Given the description of an element on the screen output the (x, y) to click on. 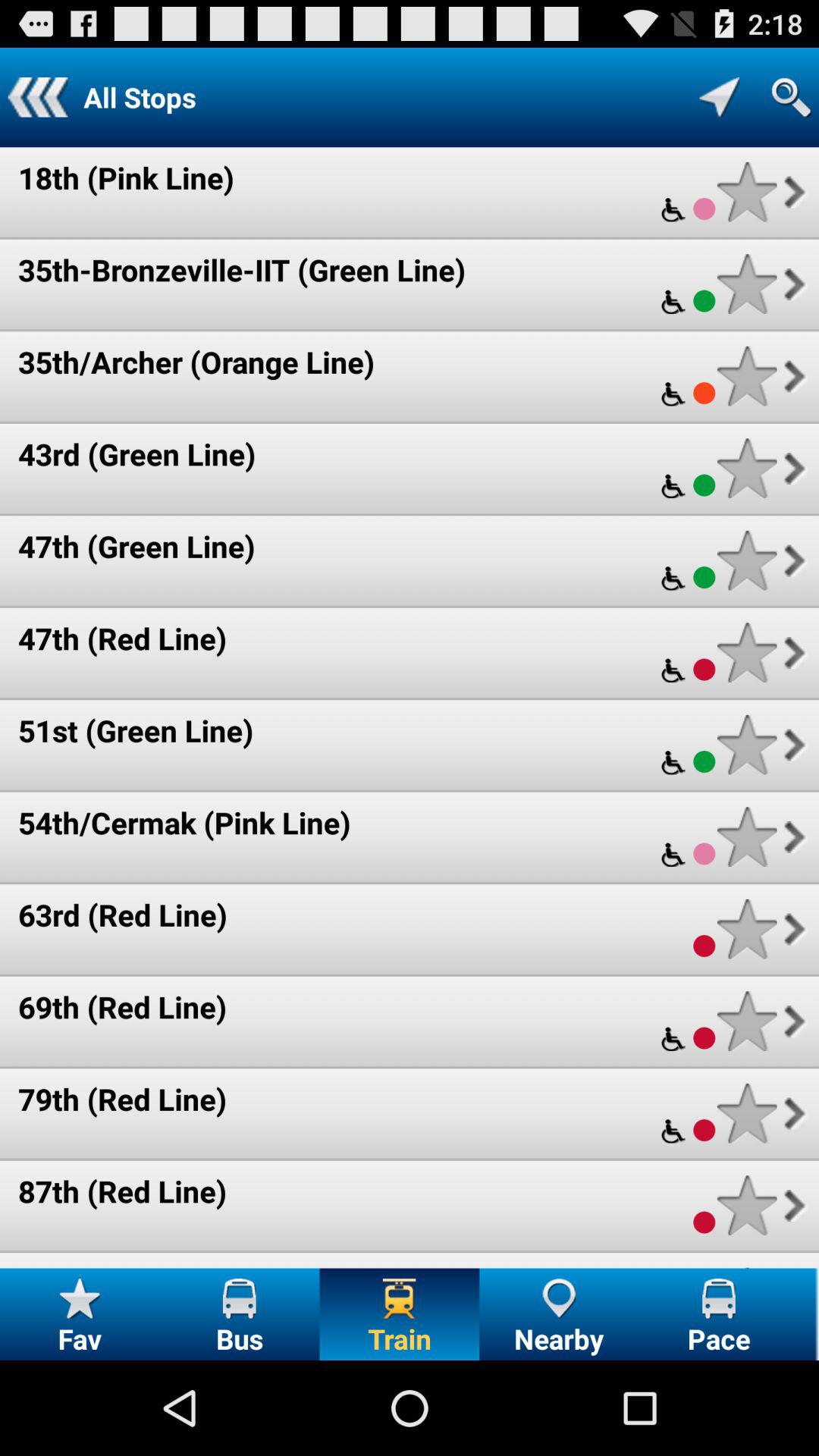
set favorite (746, 283)
